Given the description of an element on the screen output the (x, y) to click on. 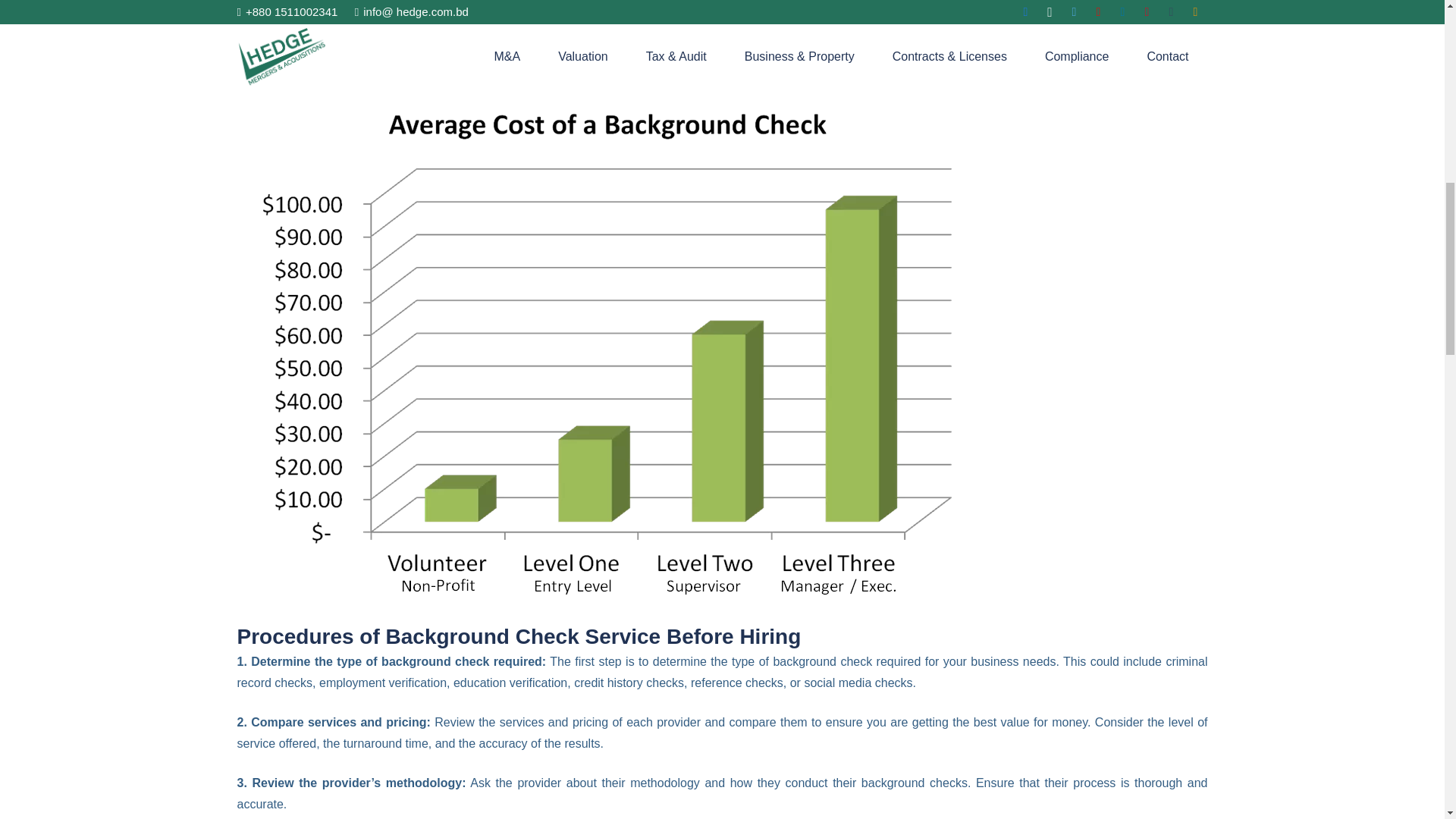
Back to top (1413, 30)
